Given the description of an element on the screen output the (x, y) to click on. 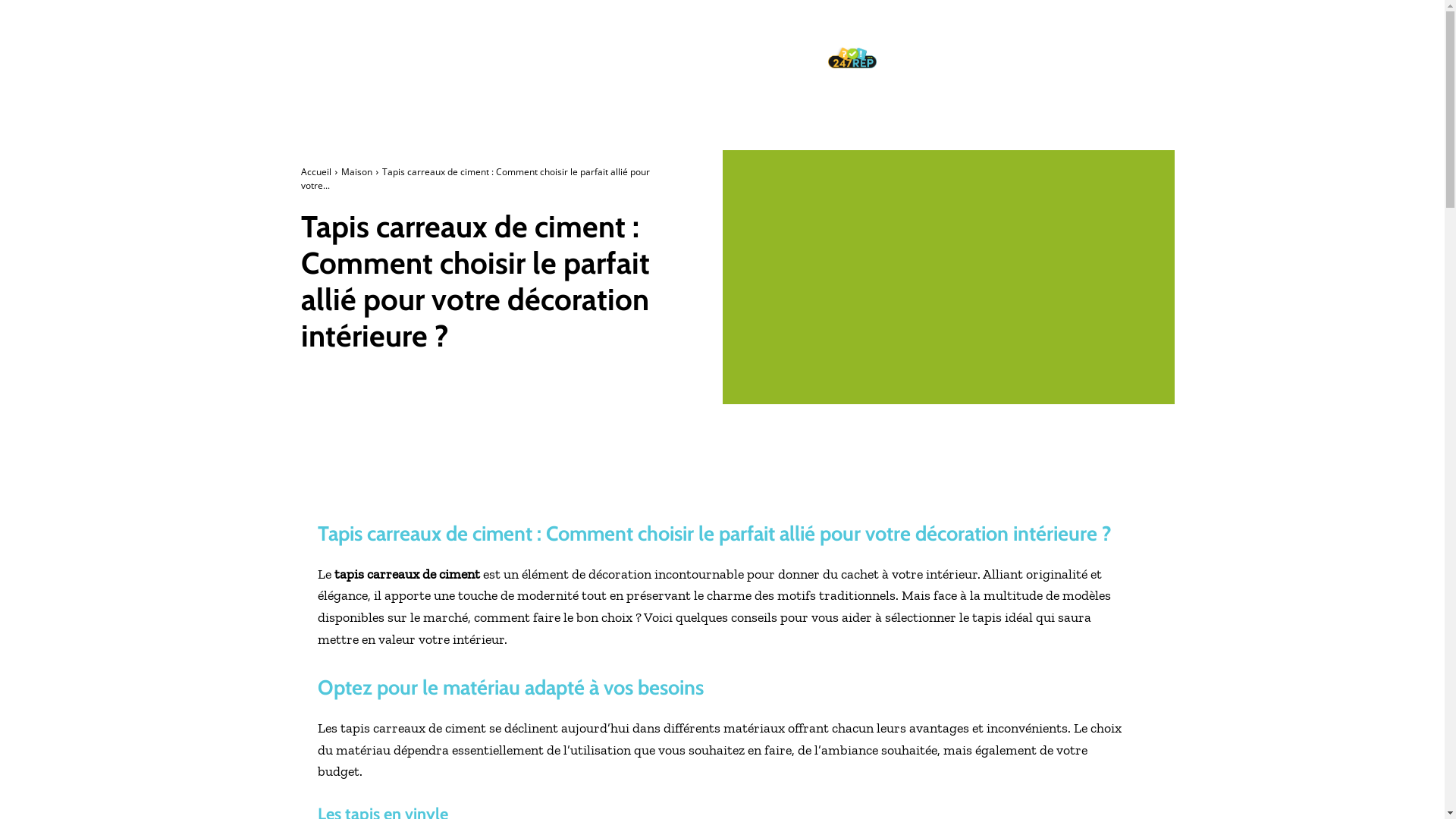
Voyage Element type: text (1089, 71)
Famille Element type: text (898, 47)
tapis-carreaux-de-ciment Element type: hover (948, 276)
Mode Element type: text (894, 71)
Cuisine Element type: text (1134, 23)
Administration Element type: text (919, 23)
Animaux Element type: text (997, 23)
Immobillier Element type: text (910, 96)
Informatique Element type: text (966, 47)
Maison Element type: text (1100, 47)
Auto / Moto Element type: text (1068, 23)
Parents Element type: text (945, 71)
Sport Element type: text (1040, 71)
Jardinage Element type: text (1041, 47)
Loisirs Element type: text (1140, 71)
Accueil Element type: text (315, 171)
Maison Element type: text (356, 171)
